Given the description of an element on the screen output the (x, y) to click on. 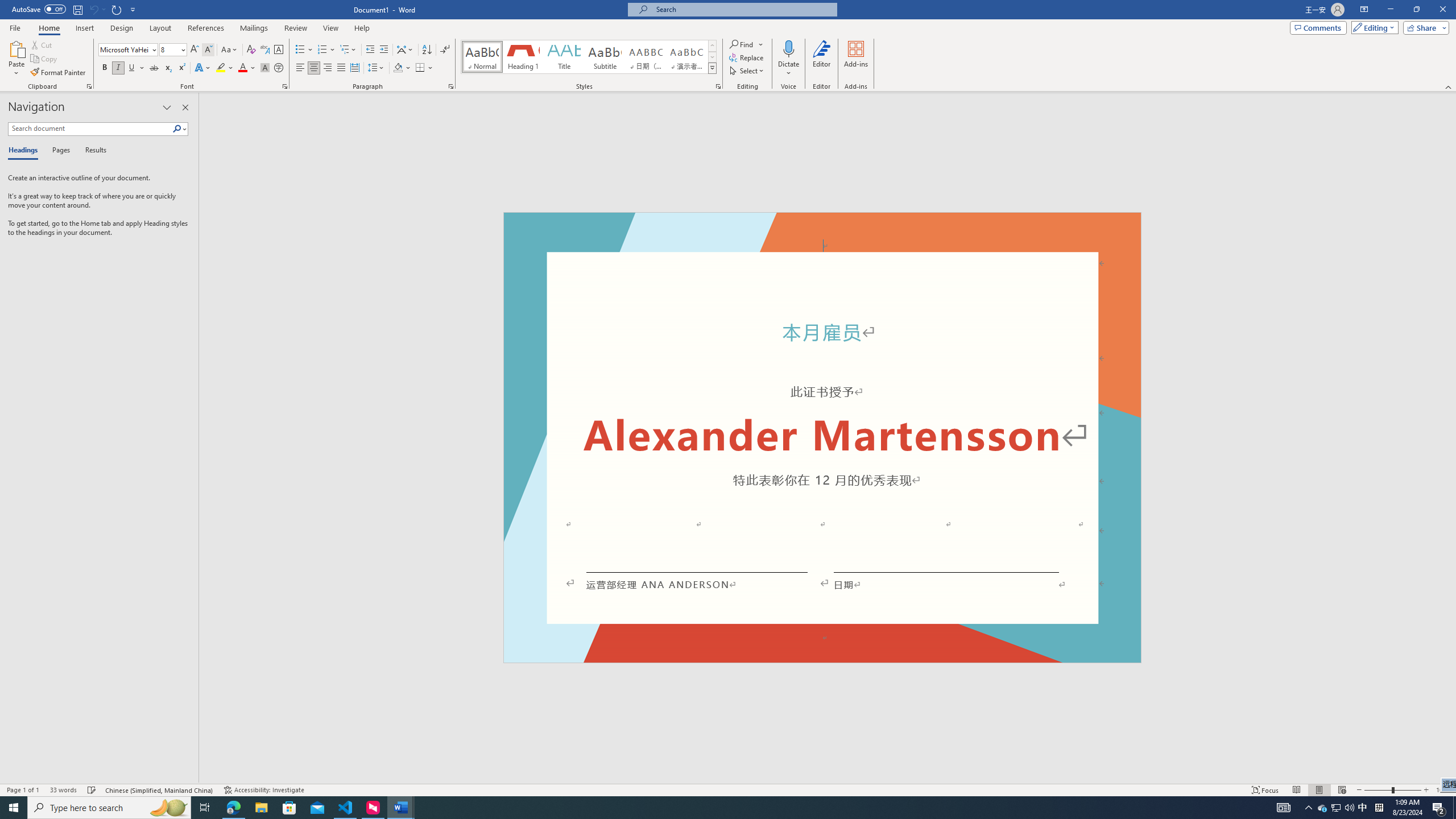
Superscript (180, 67)
Can't Undo (96, 9)
Row up (711, 45)
Character Shading (264, 67)
Class: NetUIScrollBar (1450, 437)
Save (77, 9)
Class: NetUIImage (712, 68)
System (6, 6)
Can't Undo (92, 9)
Dictate (788, 58)
Results (91, 150)
Font (128, 49)
Title (564, 56)
Layout (160, 28)
